Given the description of an element on the screen output the (x, y) to click on. 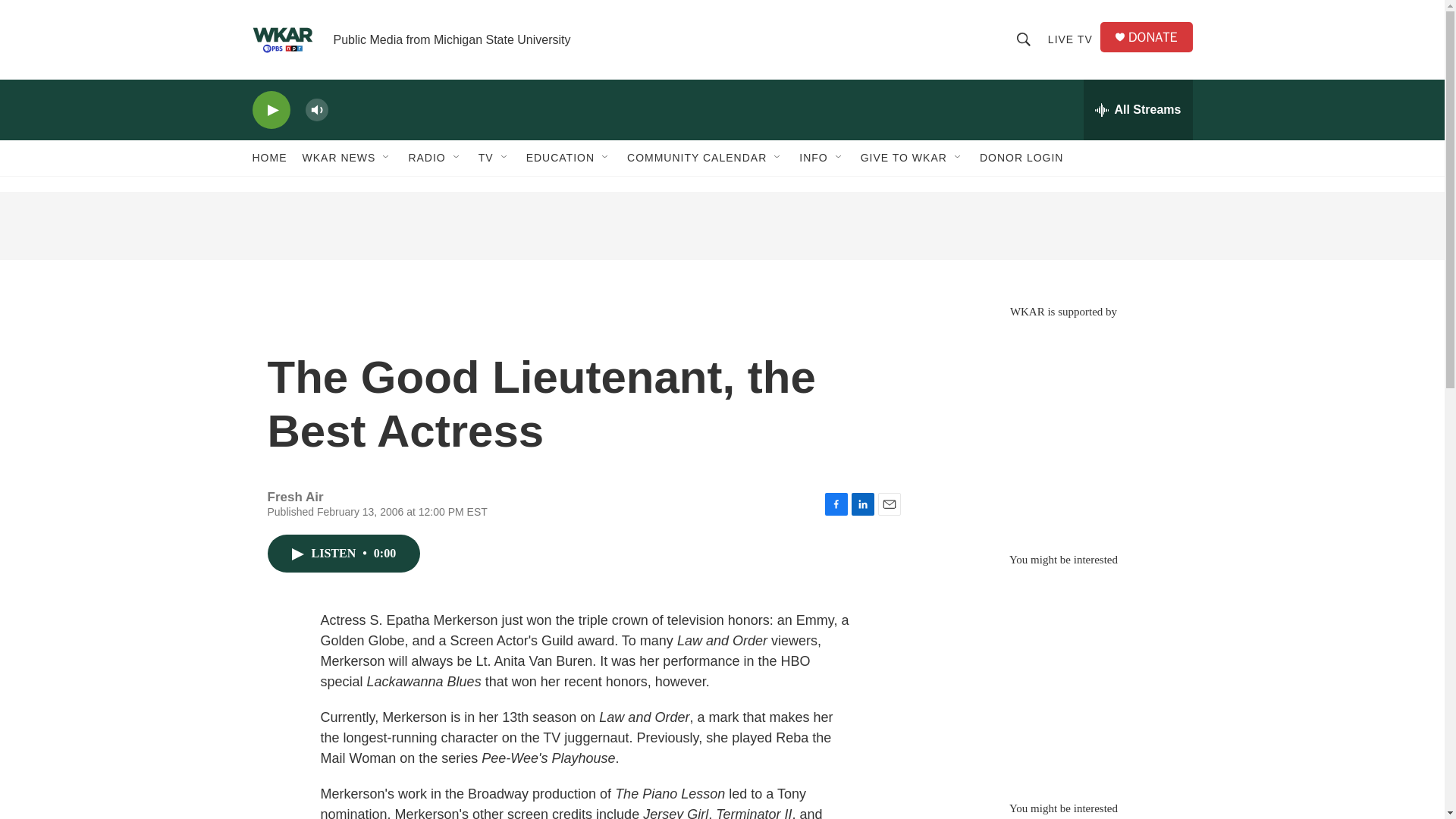
3rd party ad content (721, 225)
3rd party ad content (1062, 428)
3rd party ad content (1062, 677)
